Given the description of an element on the screen output the (x, y) to click on. 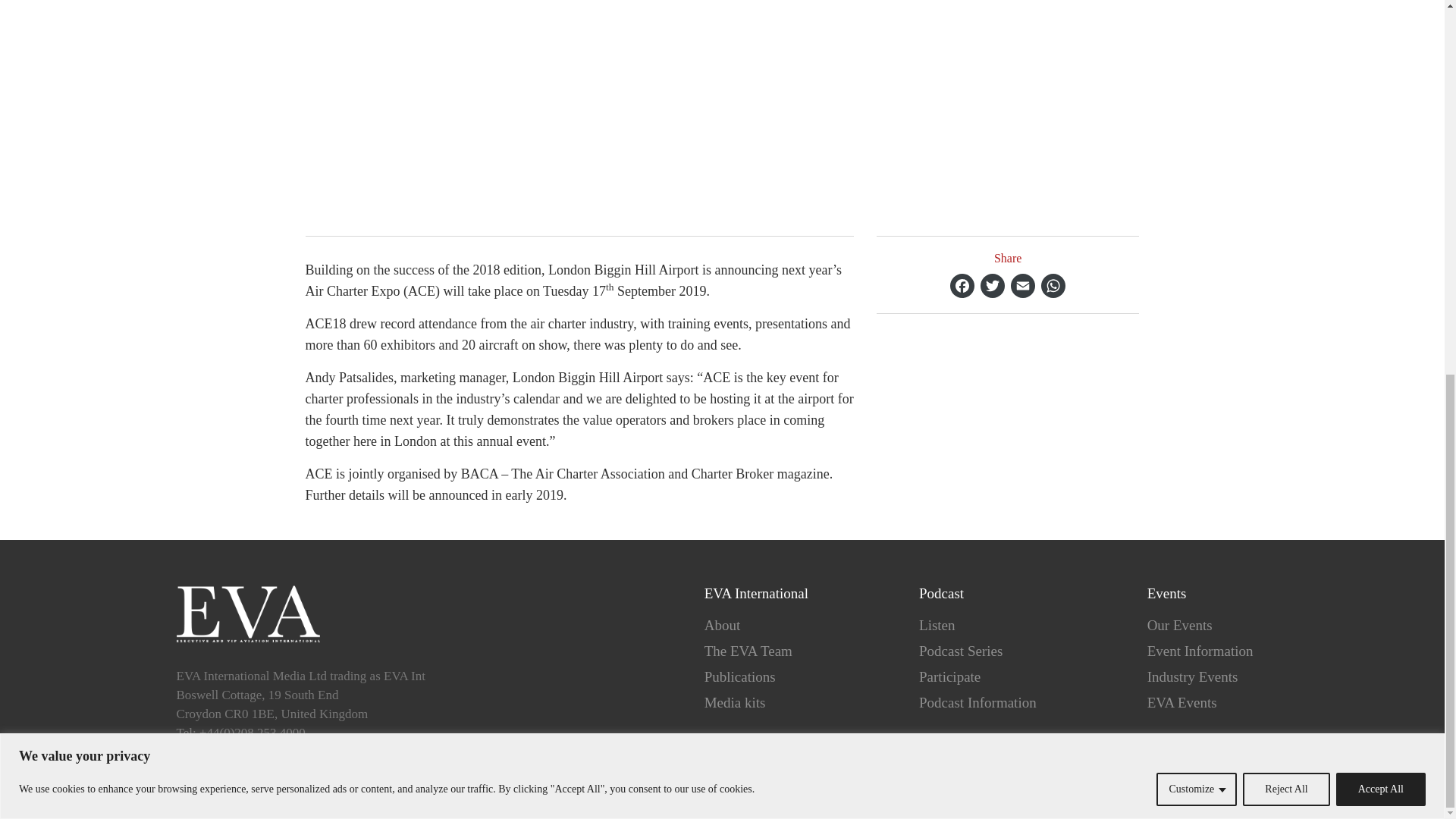
Customize (1196, 101)
Twitter (991, 285)
Facebook (961, 285)
WhatsApp (1053, 285)
Email (1022, 285)
Reject All (1286, 101)
Accept All (1380, 101)
